Given the description of an element on the screen output the (x, y) to click on. 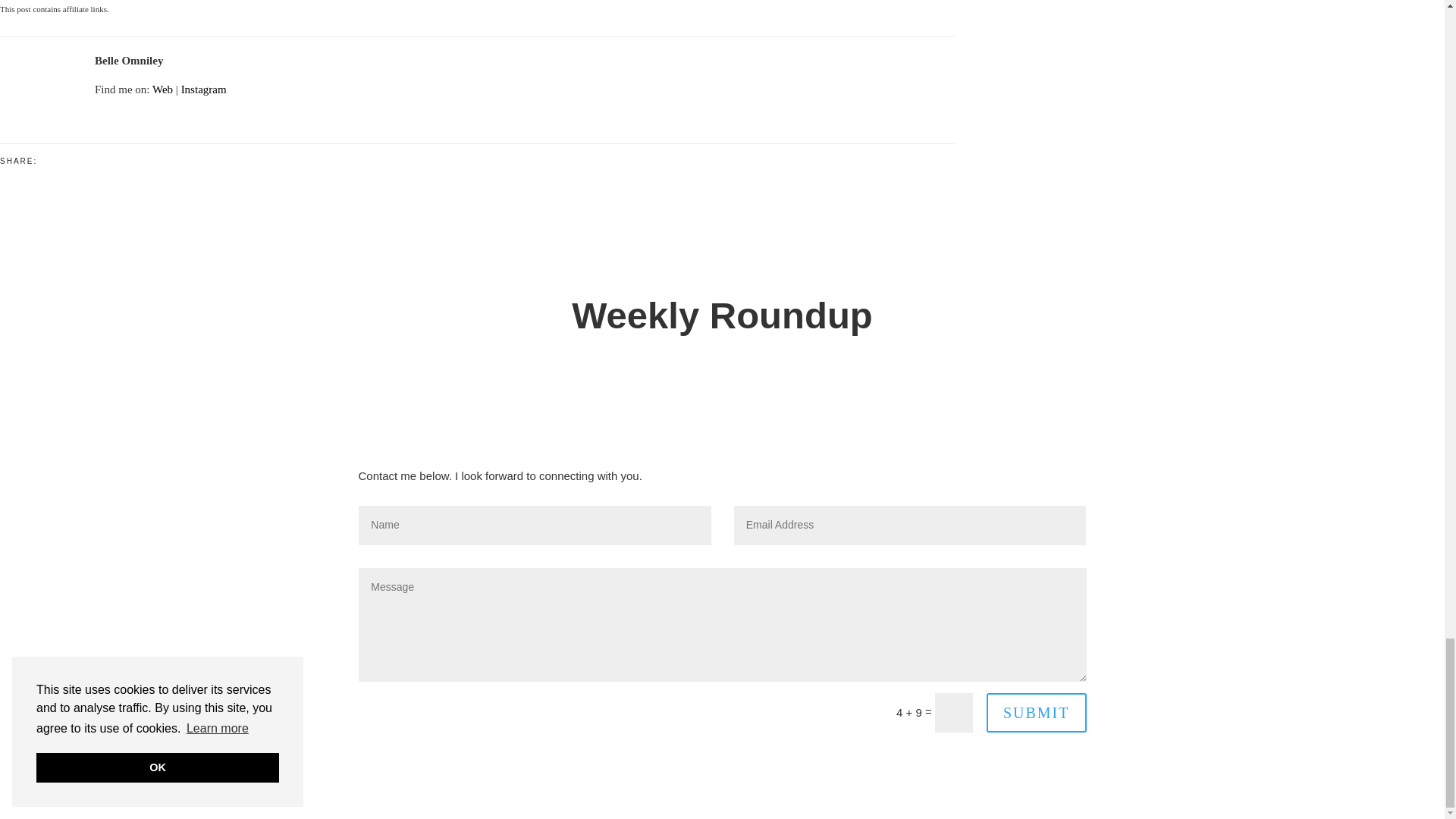
Share on Twitter (52, 159)
Share on Facebook (44, 159)
Share on Pinterest (60, 159)
Share on wp.com (67, 159)
